Given the description of an element on the screen output the (x, y) to click on. 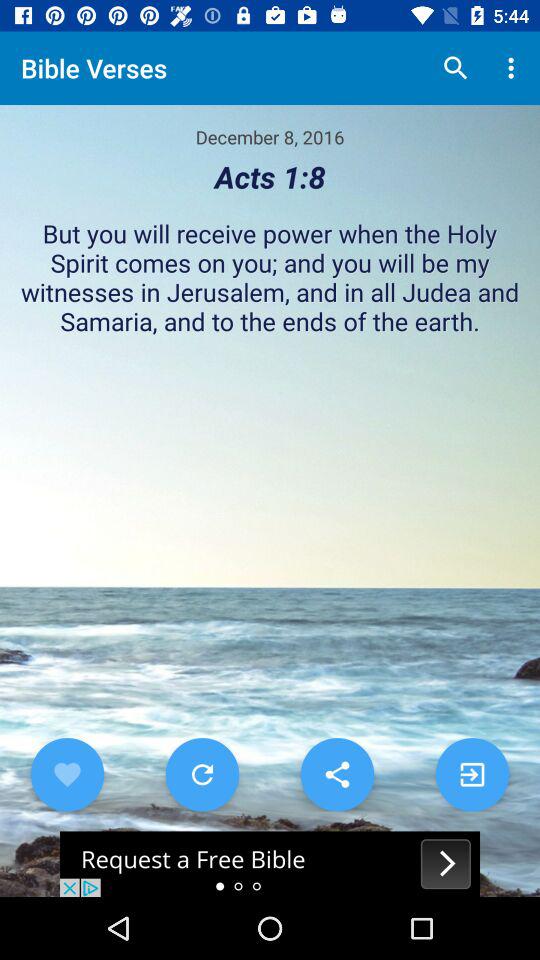
to share to others (337, 774)
